Given the description of an element on the screen output the (x, y) to click on. 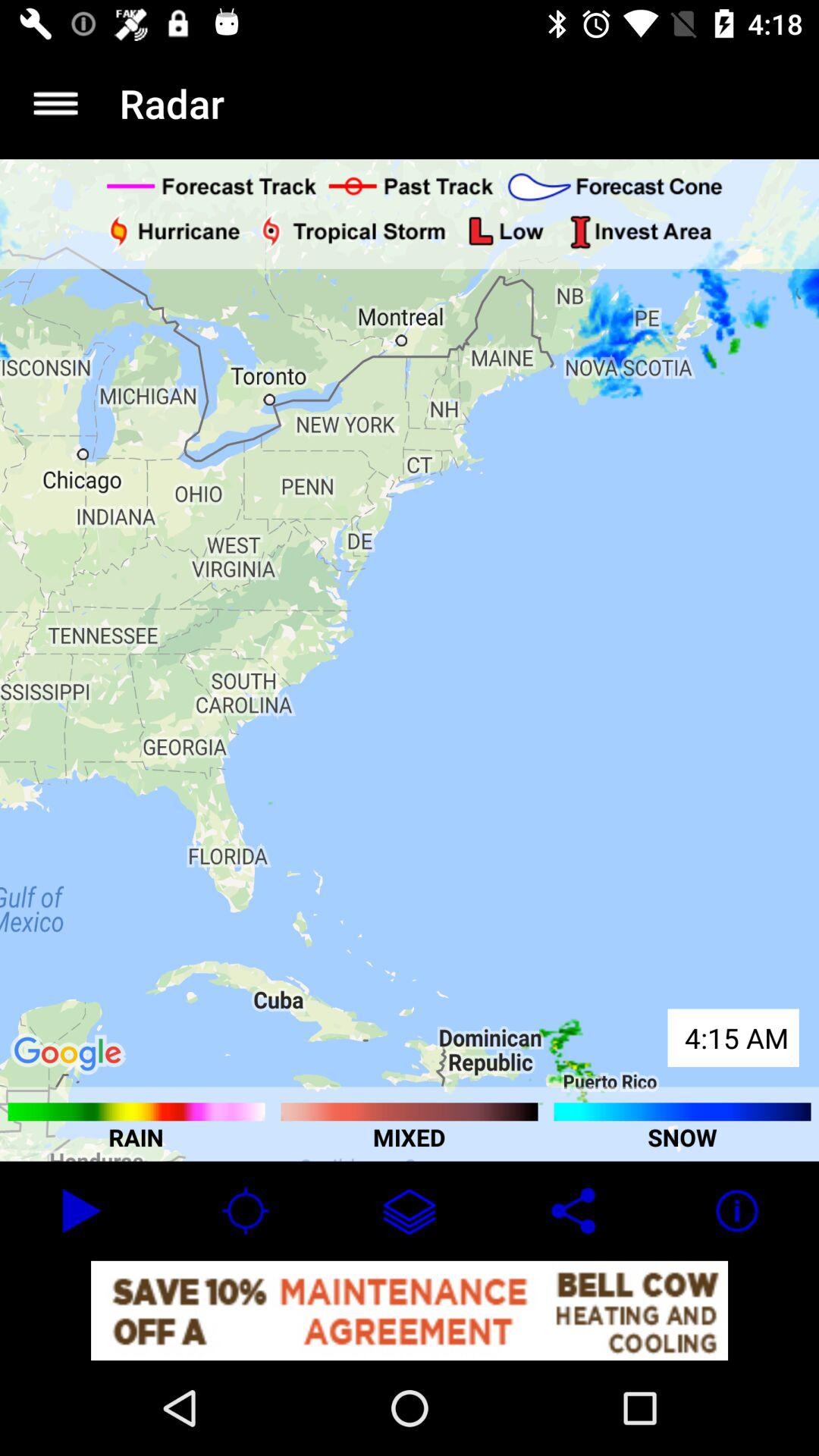
go do adderss (55, 103)
